Given the description of an element on the screen output the (x, y) to click on. 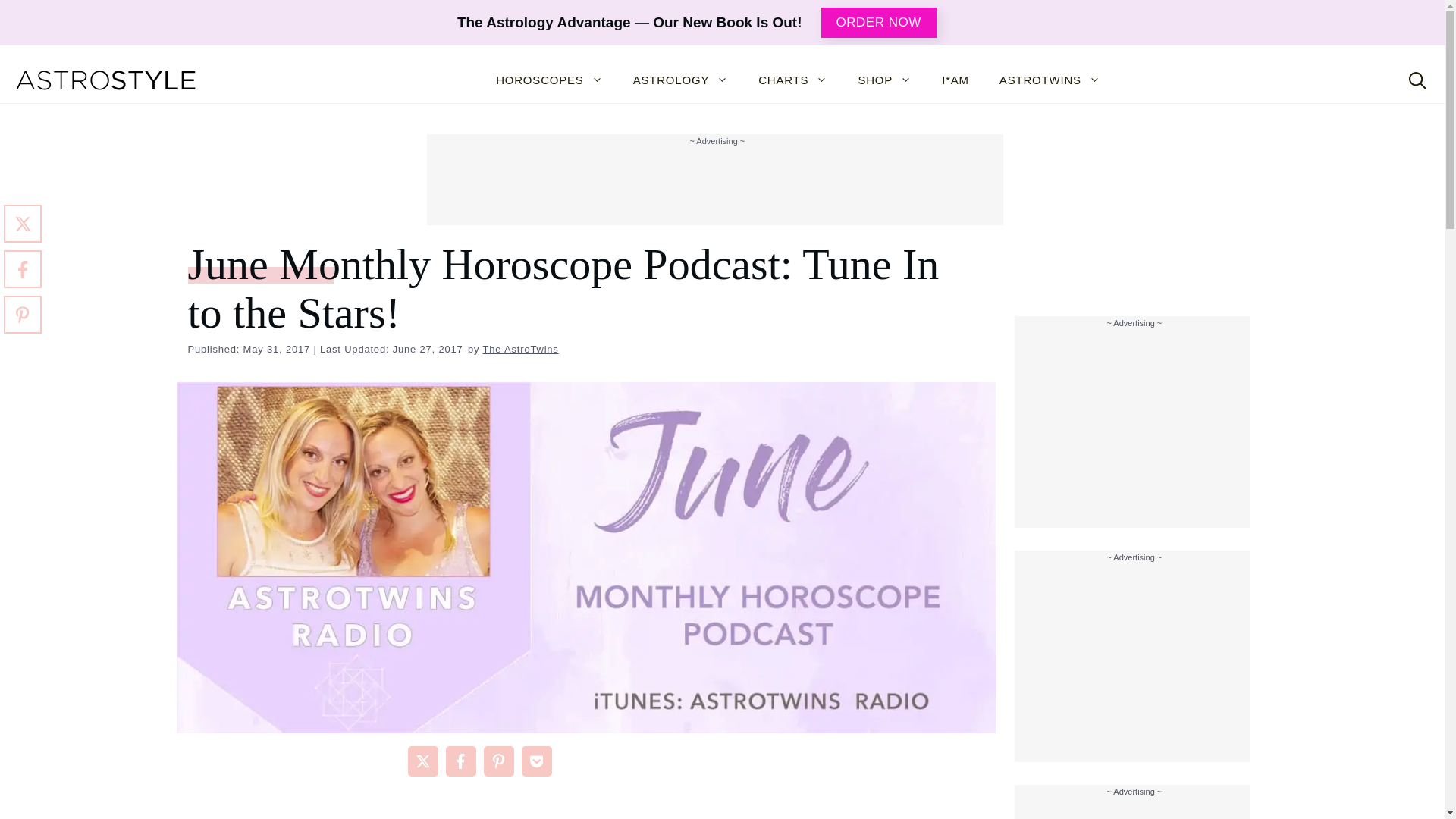
CHARTS (792, 80)
ORDER NOW (878, 22)
HOROSCOPES (548, 80)
View all posts by The AstroTwins (521, 348)
ASTROLOGY (680, 80)
